Given the description of an element on the screen output the (x, y) to click on. 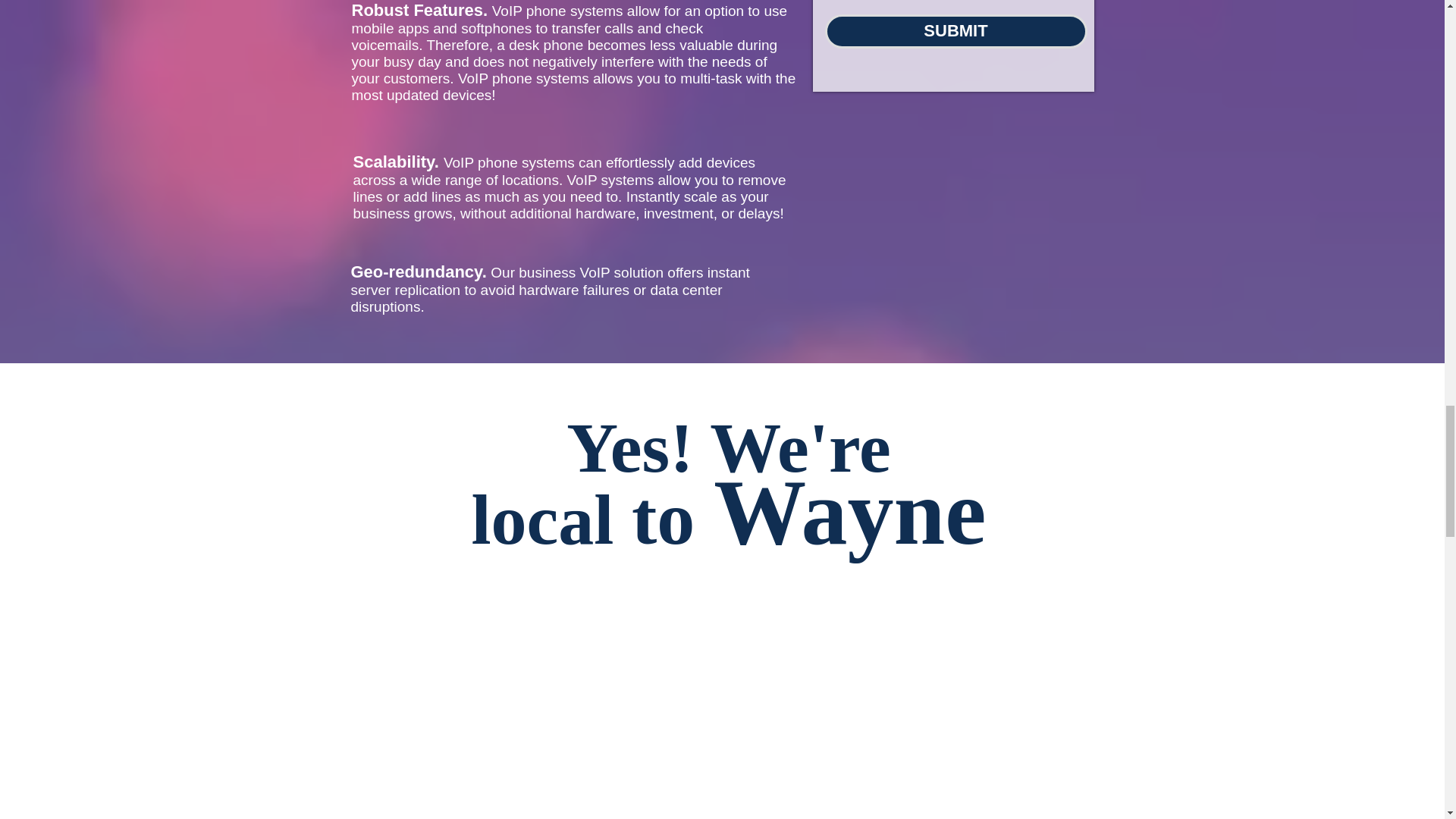
SUBMIT (956, 31)
